Given the description of an element on the screen output the (x, y) to click on. 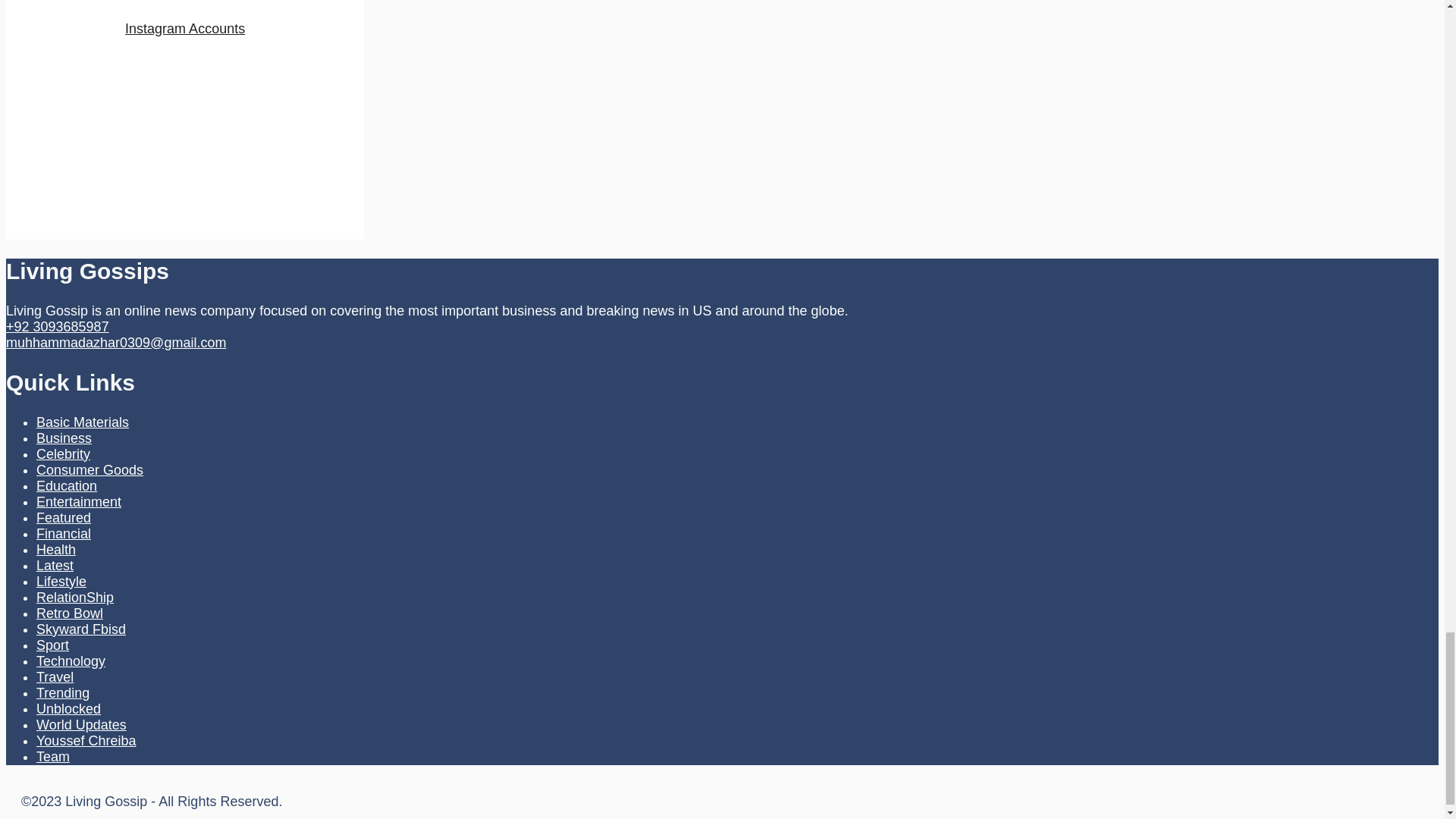
Featured (63, 516)
Financial (63, 533)
Business (63, 437)
Basic Materials (82, 421)
Health (55, 548)
Entertainment (78, 501)
Celebrity (63, 453)
Instagram Accounts (184, 28)
Consumer Goods (89, 469)
Education (66, 485)
